Given the description of an element on the screen output the (x, y) to click on. 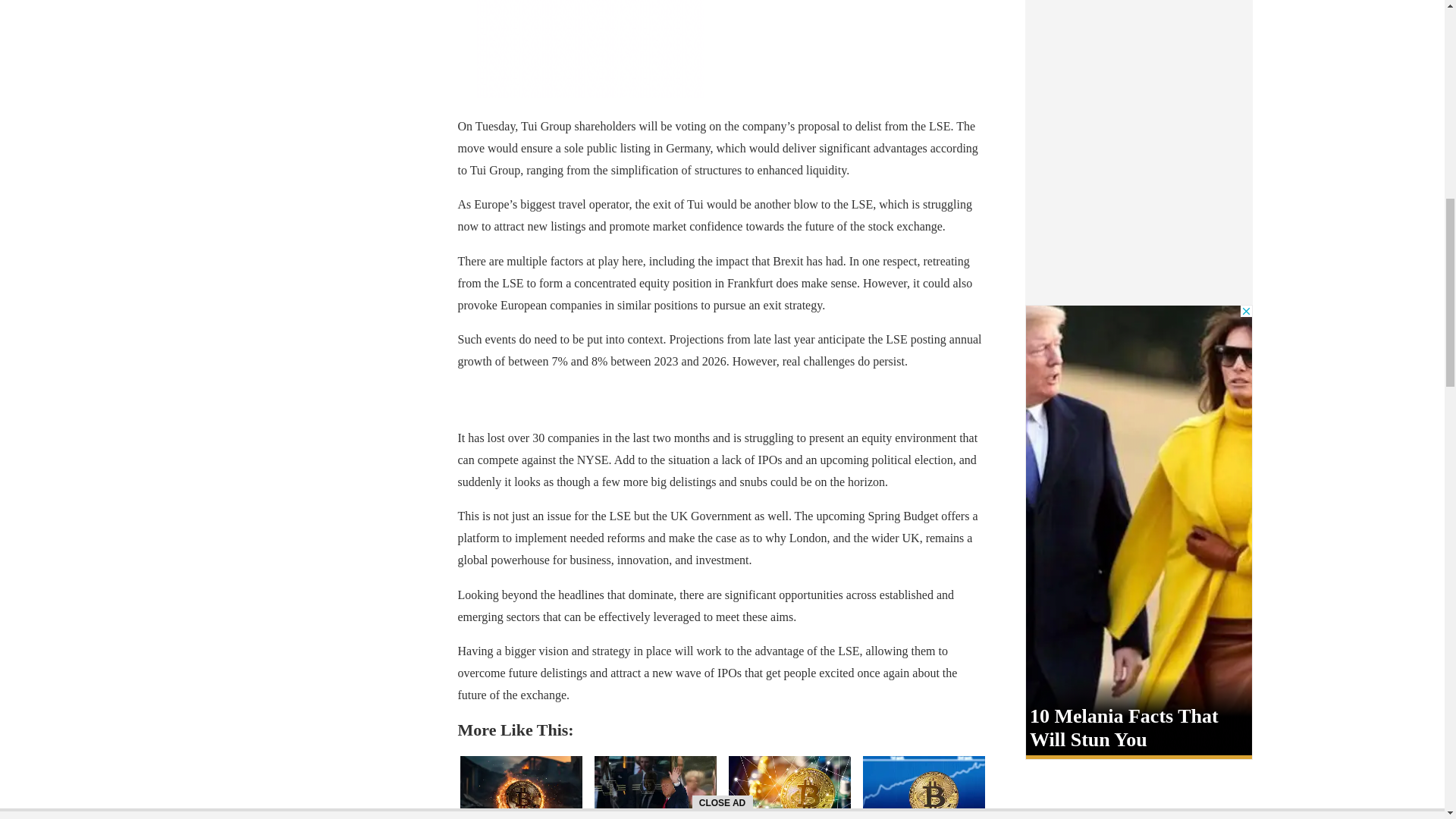
Bitcoin price: Can it hit bottom and why? (924, 787)
3rd party ad content (589, 48)
Bitcoin price forecast amid divergent market sentiment (520, 787)
Bitcoin plummets to its lowest level in two months (789, 787)
